Given the description of an element on the screen output the (x, y) to click on. 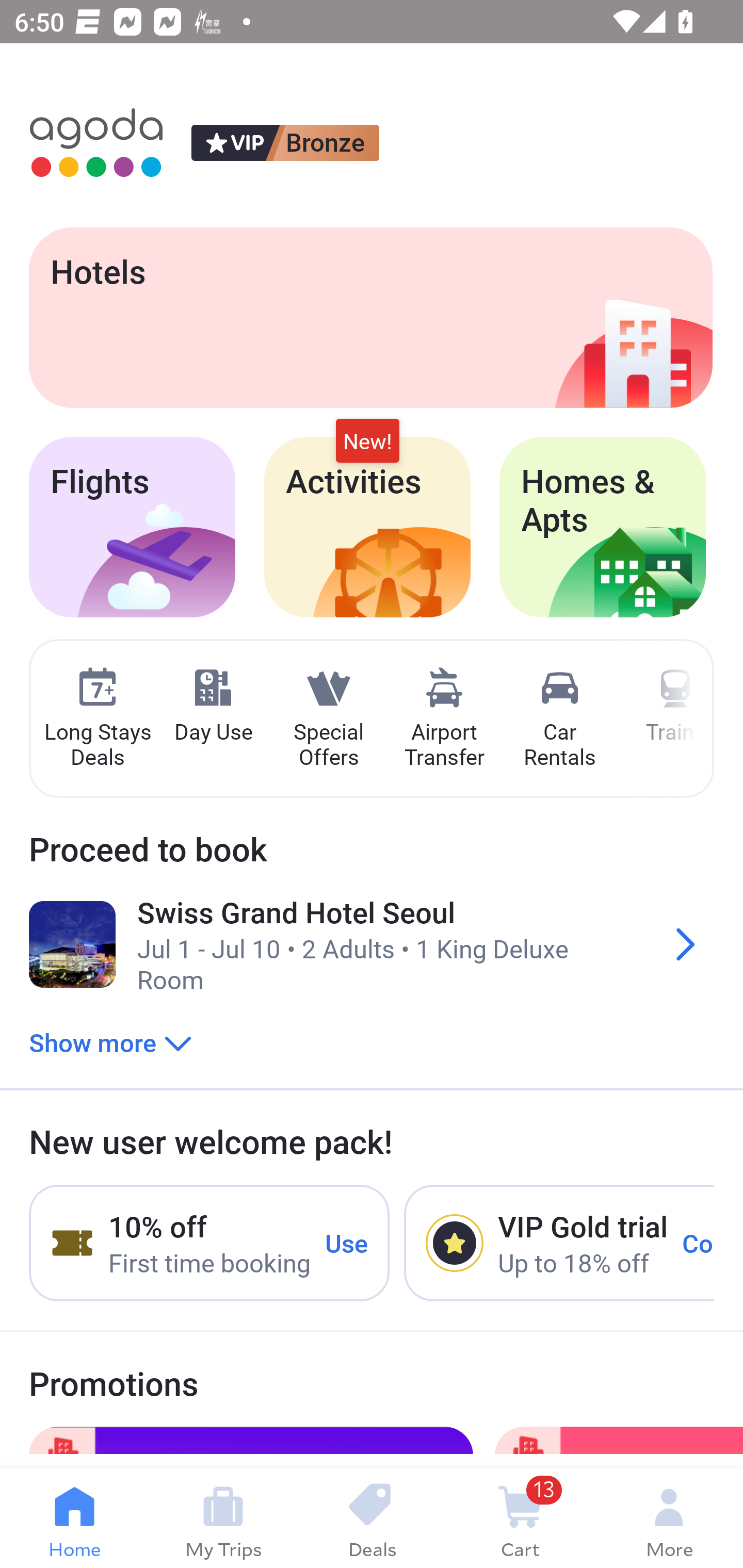
Hotels (370, 317)
New! (367, 441)
Flights (131, 527)
Activities (367, 527)
Homes & Apts (602, 527)
Day Use (213, 706)
Long Stays Deals (97, 718)
Special Offers (328, 718)
Airport Transfer (444, 718)
Car Rentals (559, 718)
Show more (110, 1041)
Use (346, 1242)
Home (74, 1518)
My Trips (222, 1518)
Deals (371, 1518)
13 Cart (519, 1518)
More (668, 1518)
